Given the description of an element on the screen output the (x, y) to click on. 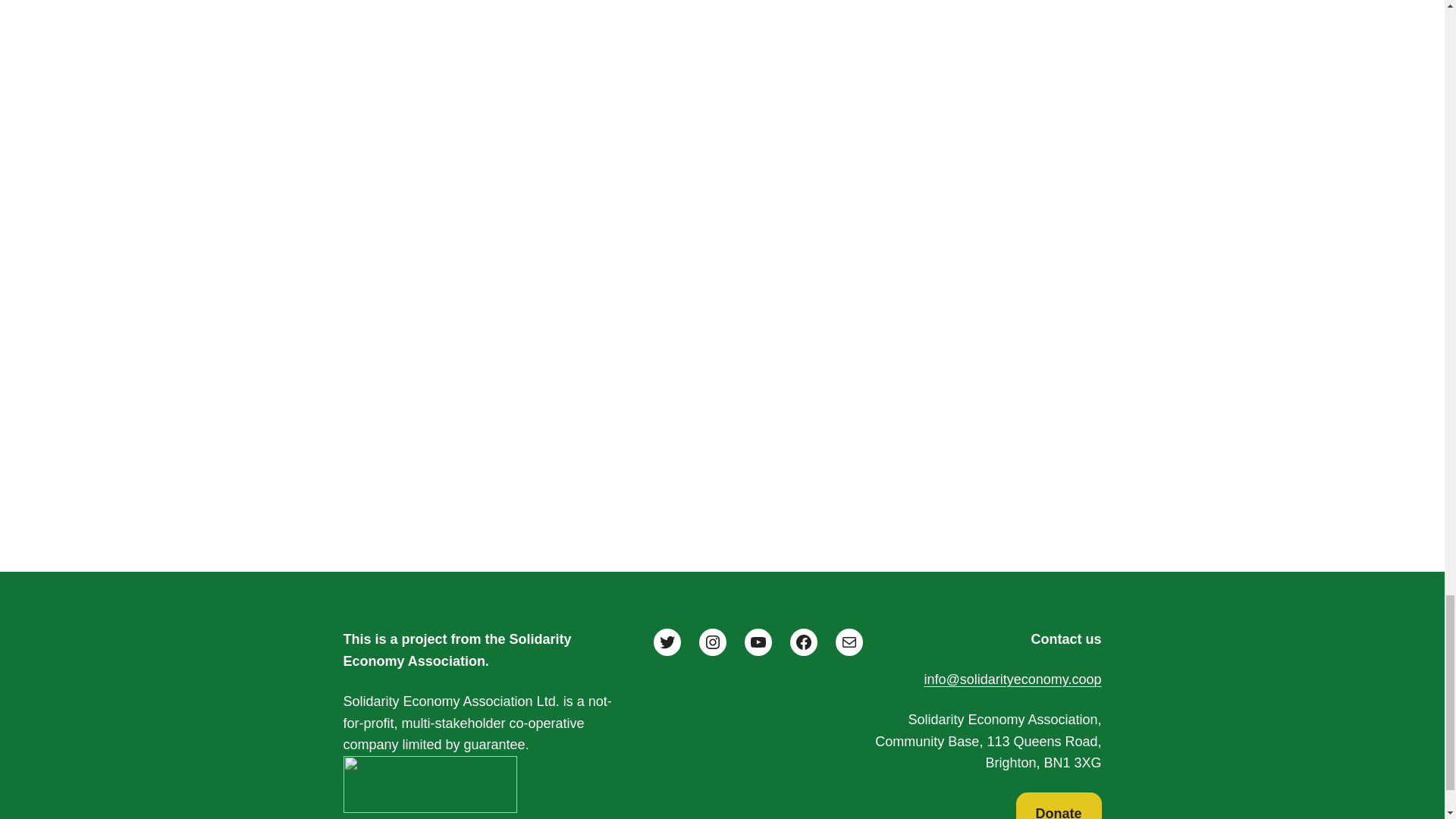
Twitter (667, 642)
Facebook (803, 642)
Spotify Embed: The Black Panther Party (722, 405)
Donate (1059, 805)
Instagram (712, 642)
YouTube (757, 642)
Mail (849, 642)
